Given the description of an element on the screen output the (x, y) to click on. 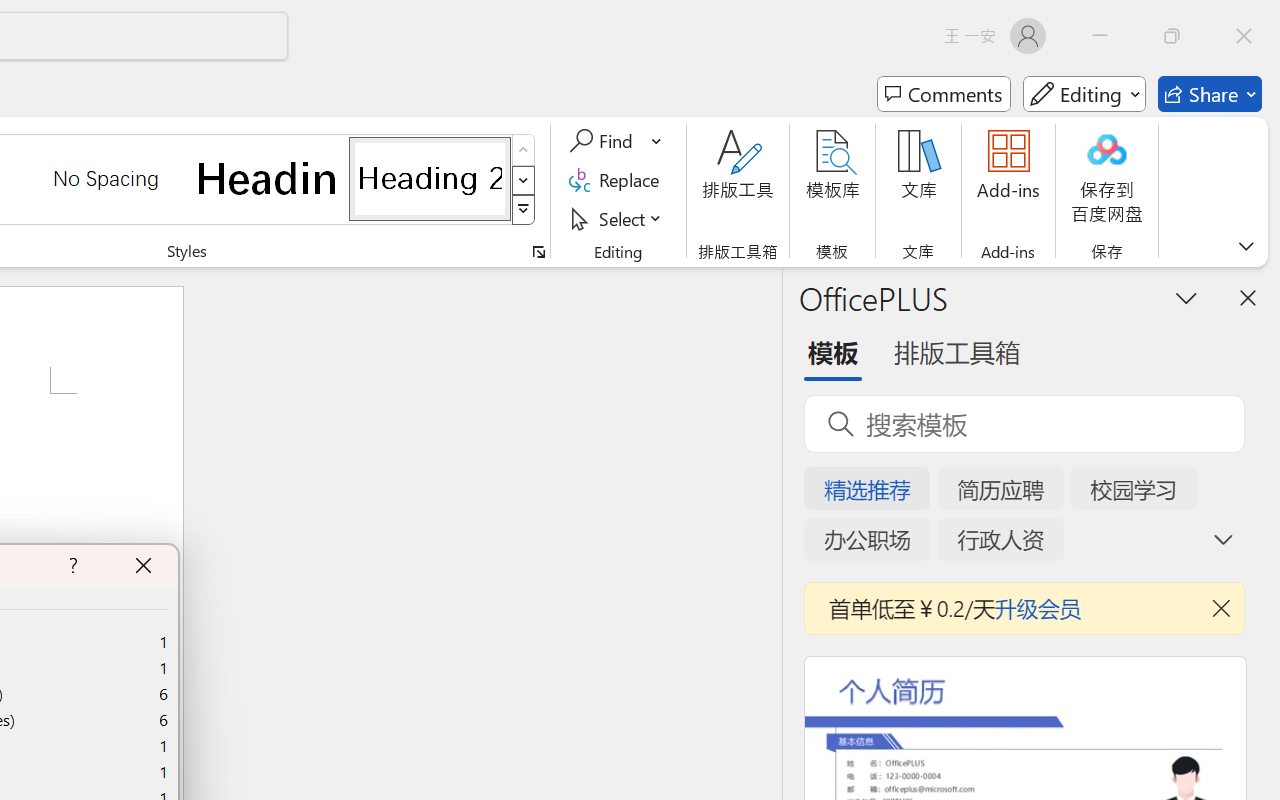
Restore Down (1172, 36)
Comments (943, 94)
Find (616, 141)
